Given the description of an element on the screen output the (x, y) to click on. 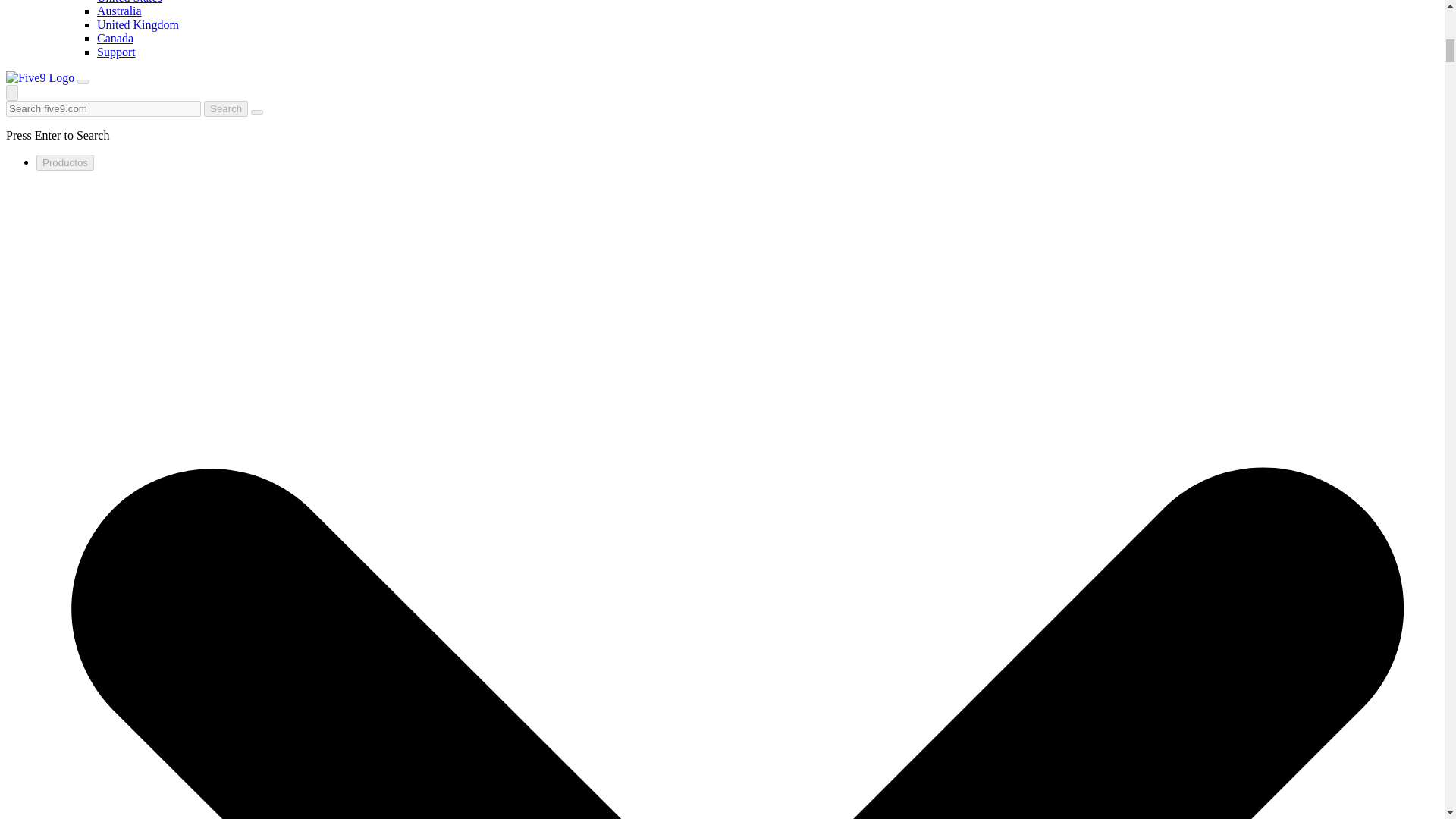
United States (129, 2)
Productos (65, 162)
United Kingdom (138, 24)
Search (225, 108)
Enter the terms you wish to search for. (102, 108)
Support (116, 51)
Search (225, 108)
Australia (119, 10)
Canada (115, 38)
